Given the description of an element on the screen output the (x, y) to click on. 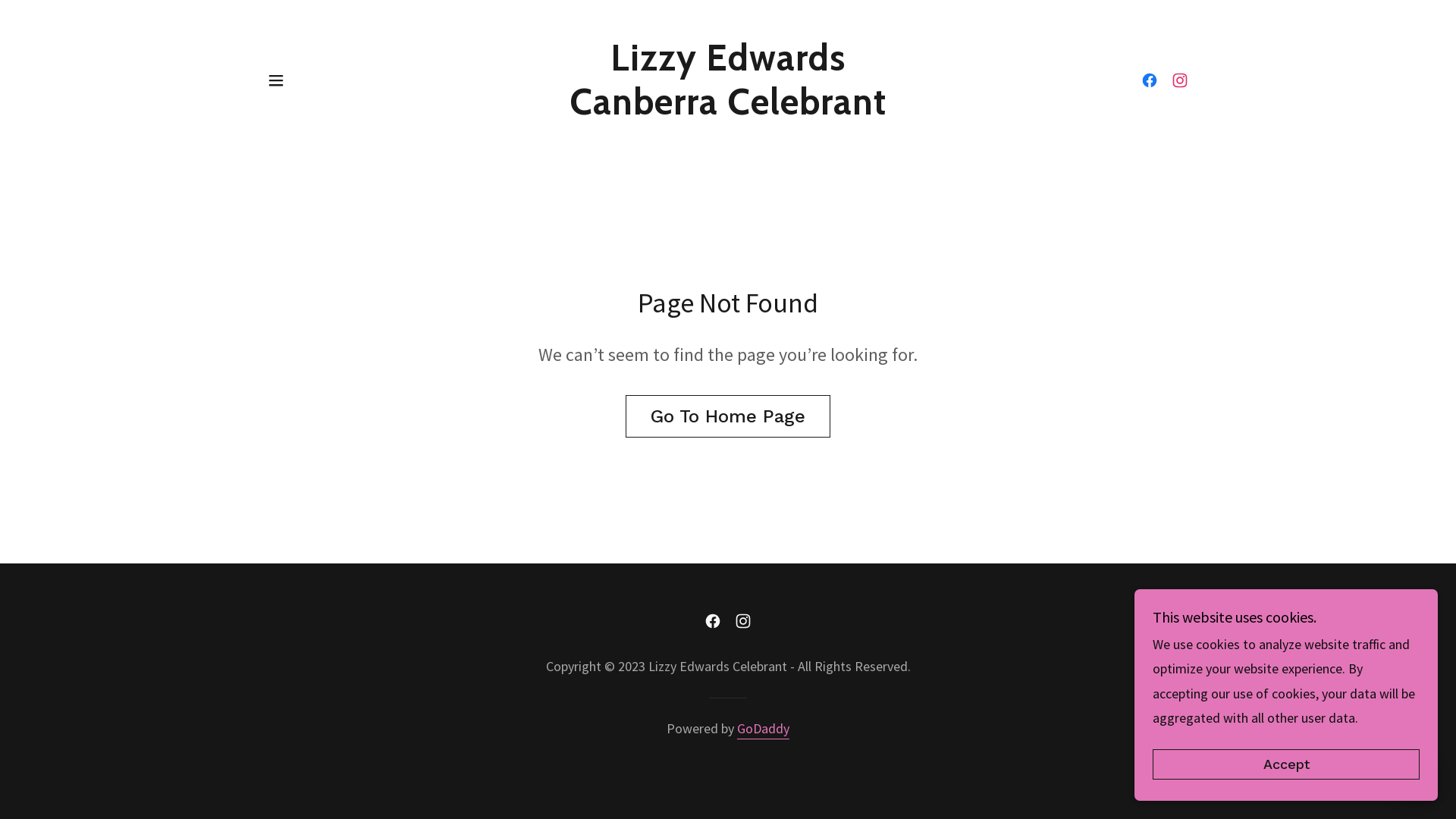
Accept Element type: text (1285, 764)
Go To Home Page Element type: text (727, 416)
Lizzy Edwards Canberra Celebrant Element type: text (728, 109)
GoDaddy Element type: text (763, 729)
